Given the description of an element on the screen output the (x, y) to click on. 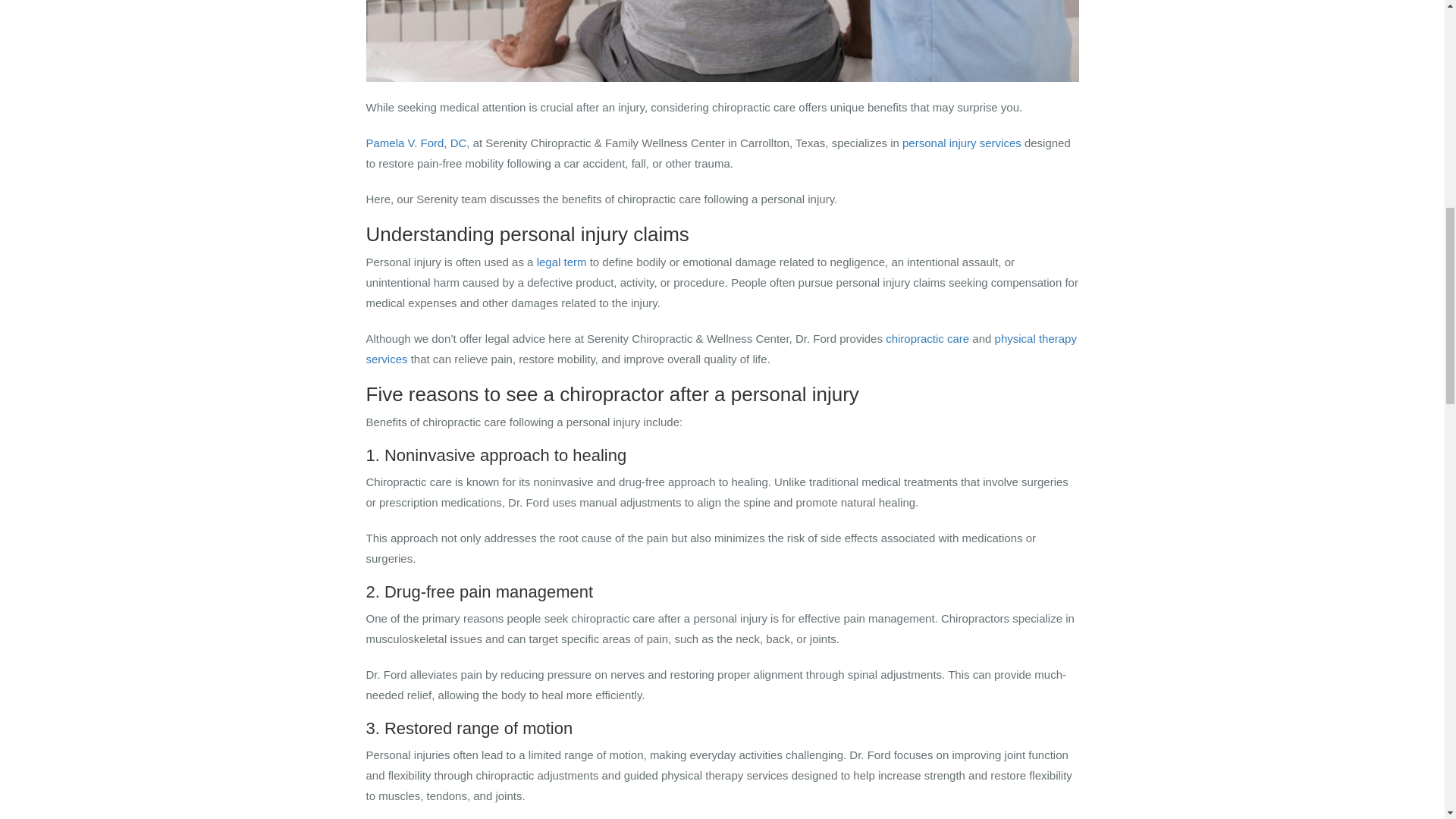
legal term (561, 261)
Pamela V. Ford, DC (415, 142)
personal injury services (962, 142)
chiropractic care (927, 338)
physical therapy services (720, 348)
